Given the description of an element on the screen output the (x, y) to click on. 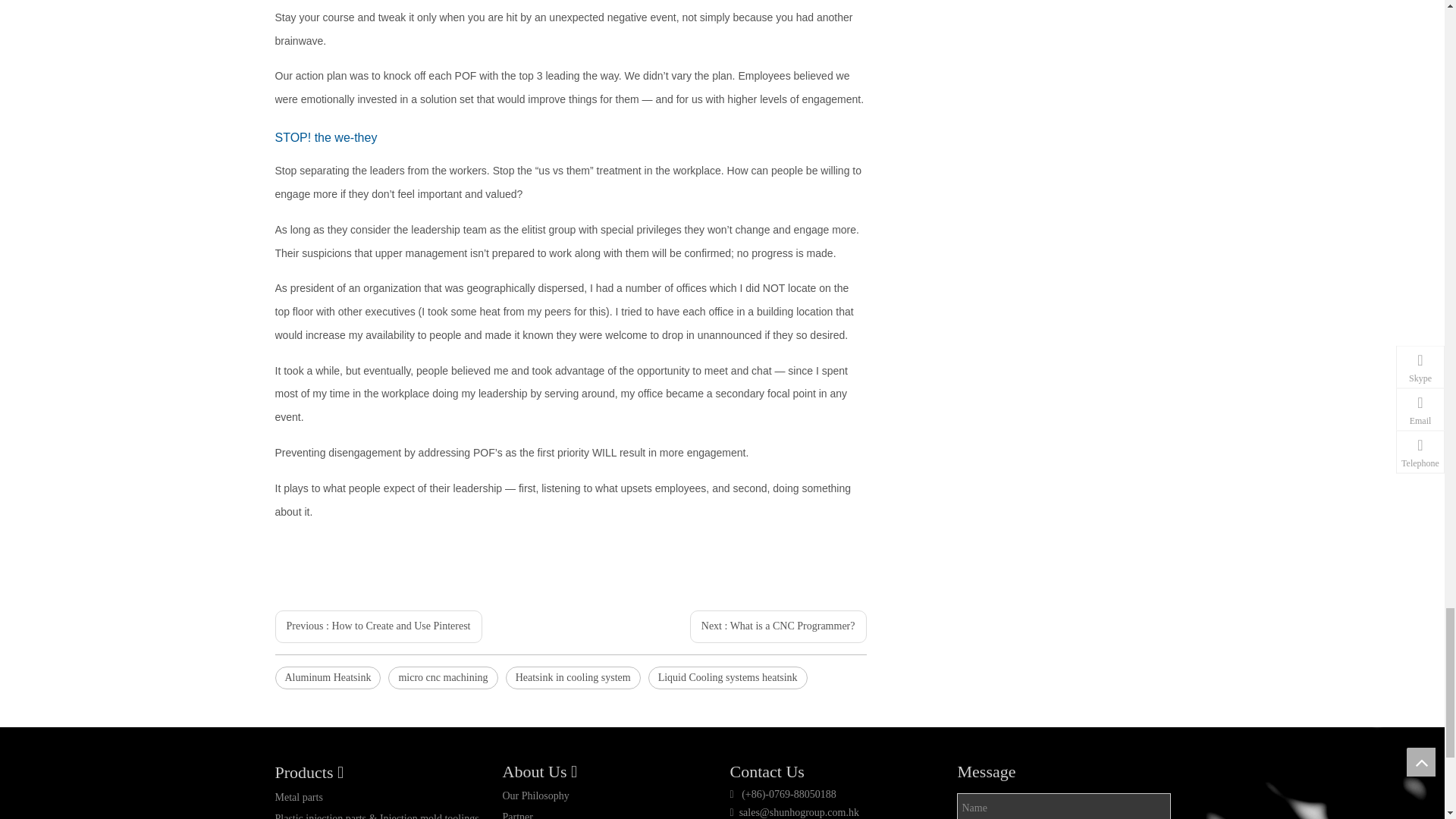
Heatsink in cooling system (572, 677)
Aluminum Heatsink (327, 677)
Metal parts (298, 797)
Liquid Cooling systems heatsink (727, 677)
Our Philosophy (535, 795)
micro cnc machining (442, 677)
Partner (517, 815)
